Given the description of an element on the screen output the (x, y) to click on. 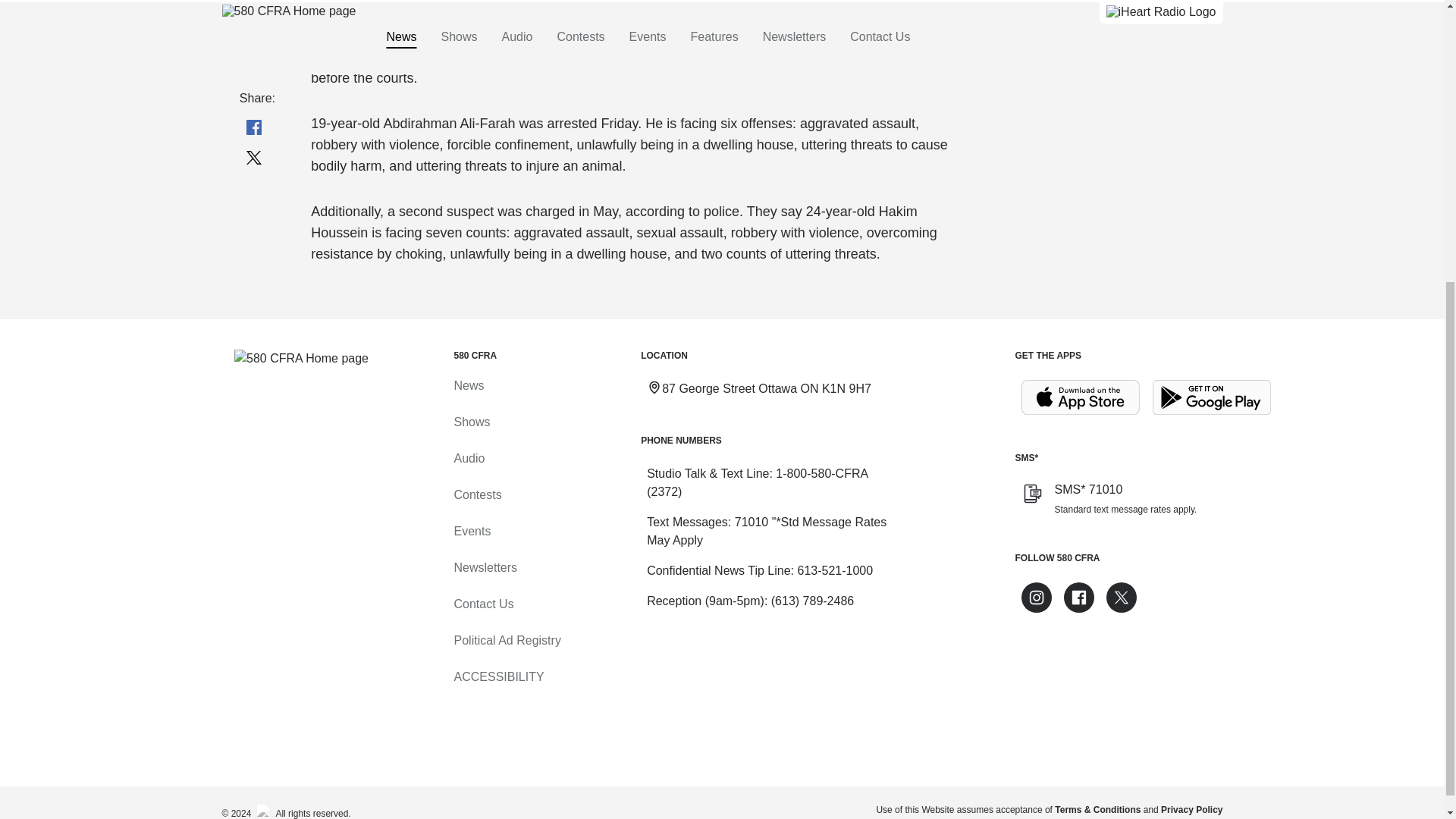
Get it on Google Play (1212, 397)
News (467, 385)
Contests (476, 494)
Contact Us (482, 603)
Newsletters (484, 567)
ACCESSIBILITY (497, 676)
Download on the App Store (1080, 397)
Shows (470, 421)
Accessibility (497, 676)
Events (471, 530)
